Given the description of an element on the screen output the (x, y) to click on. 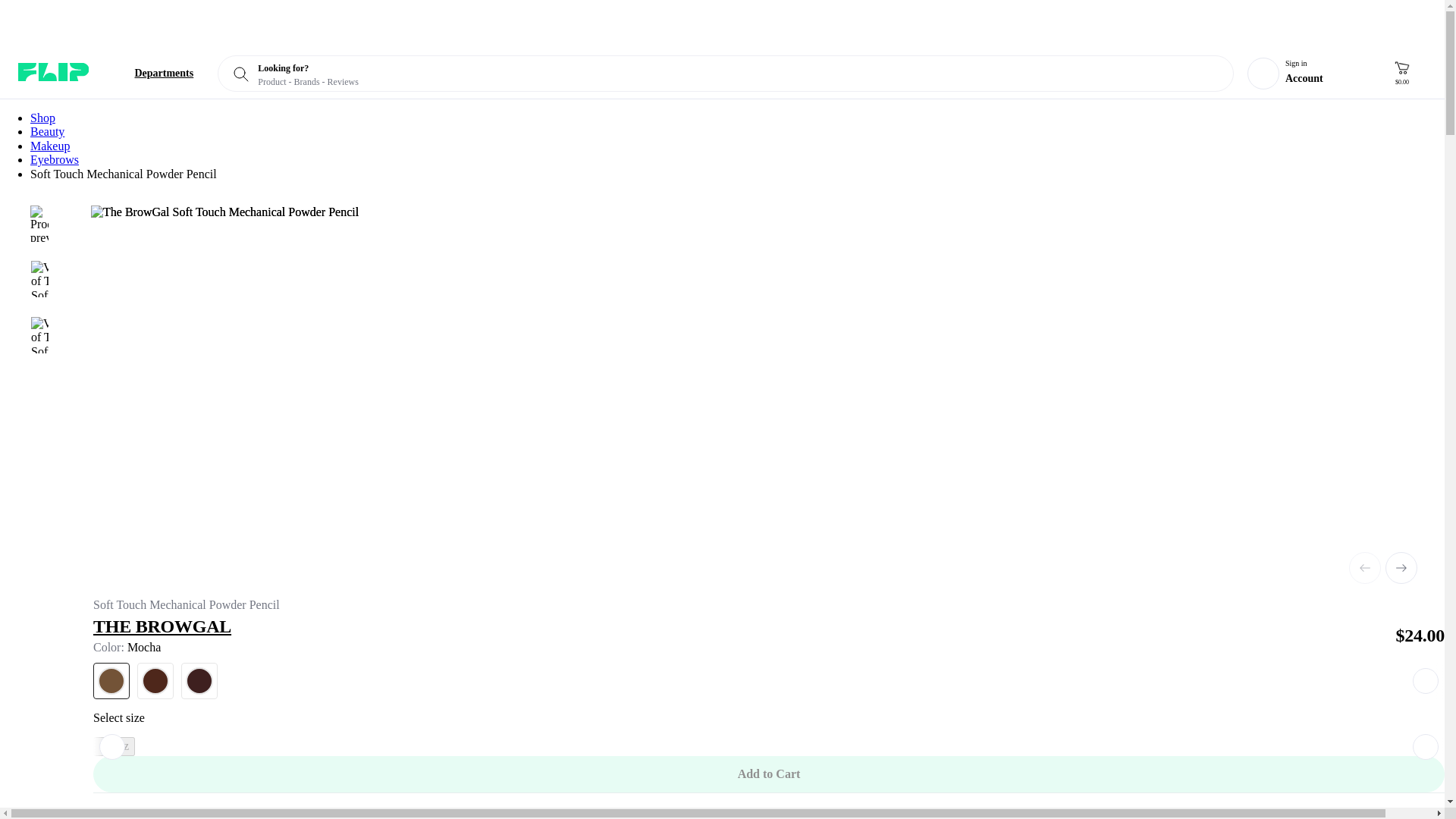
Makeup (49, 145)
The BrowGal (738, 626)
0.3 oz (114, 746)
Flip feed (52, 72)
Shop (42, 117)
Beauty (47, 131)
Departments (152, 73)
Add to Cart (768, 773)
Eyebrows (54, 159)
THE BROWGAL (738, 626)
